Given the description of an element on the screen output the (x, y) to click on. 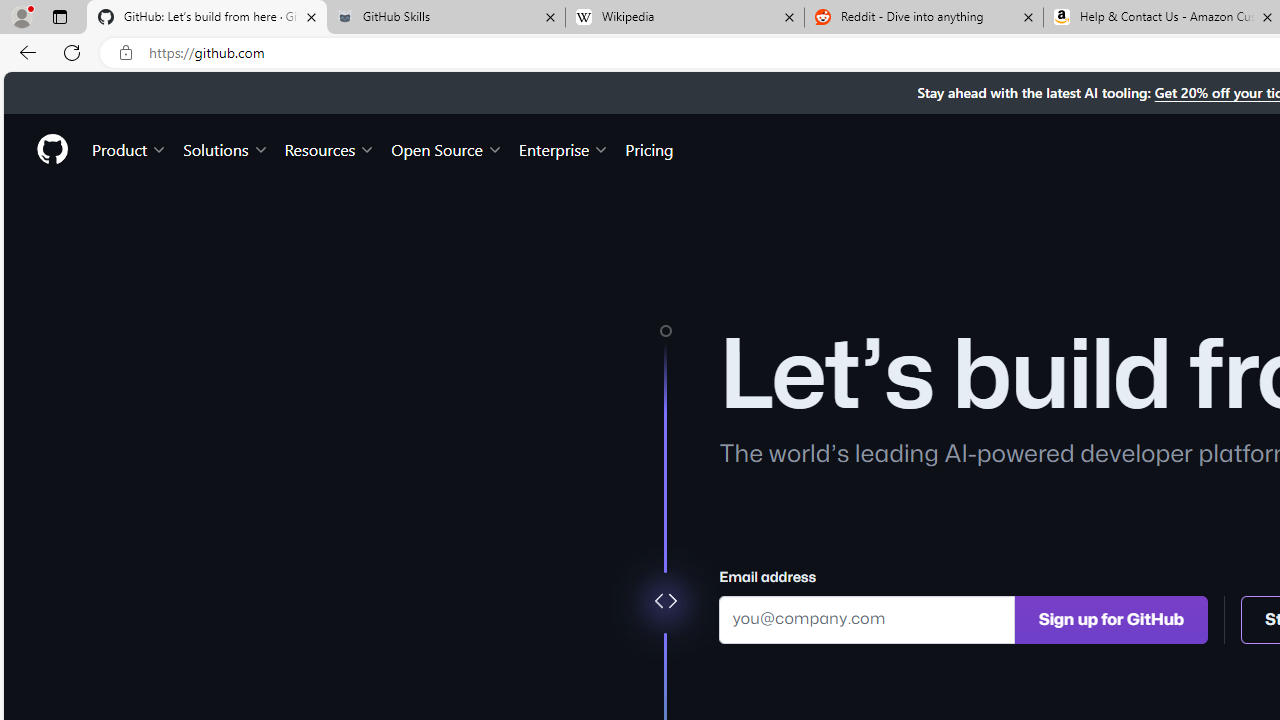
Homepage (51, 149)
GitHub Skills (445, 17)
Product (130, 148)
Open Source (446, 148)
Email address (867, 618)
Enterprise (563, 148)
Solutions (225, 148)
Wikipedia (684, 17)
Product (130, 148)
